Given the description of an element on the screen output the (x, y) to click on. 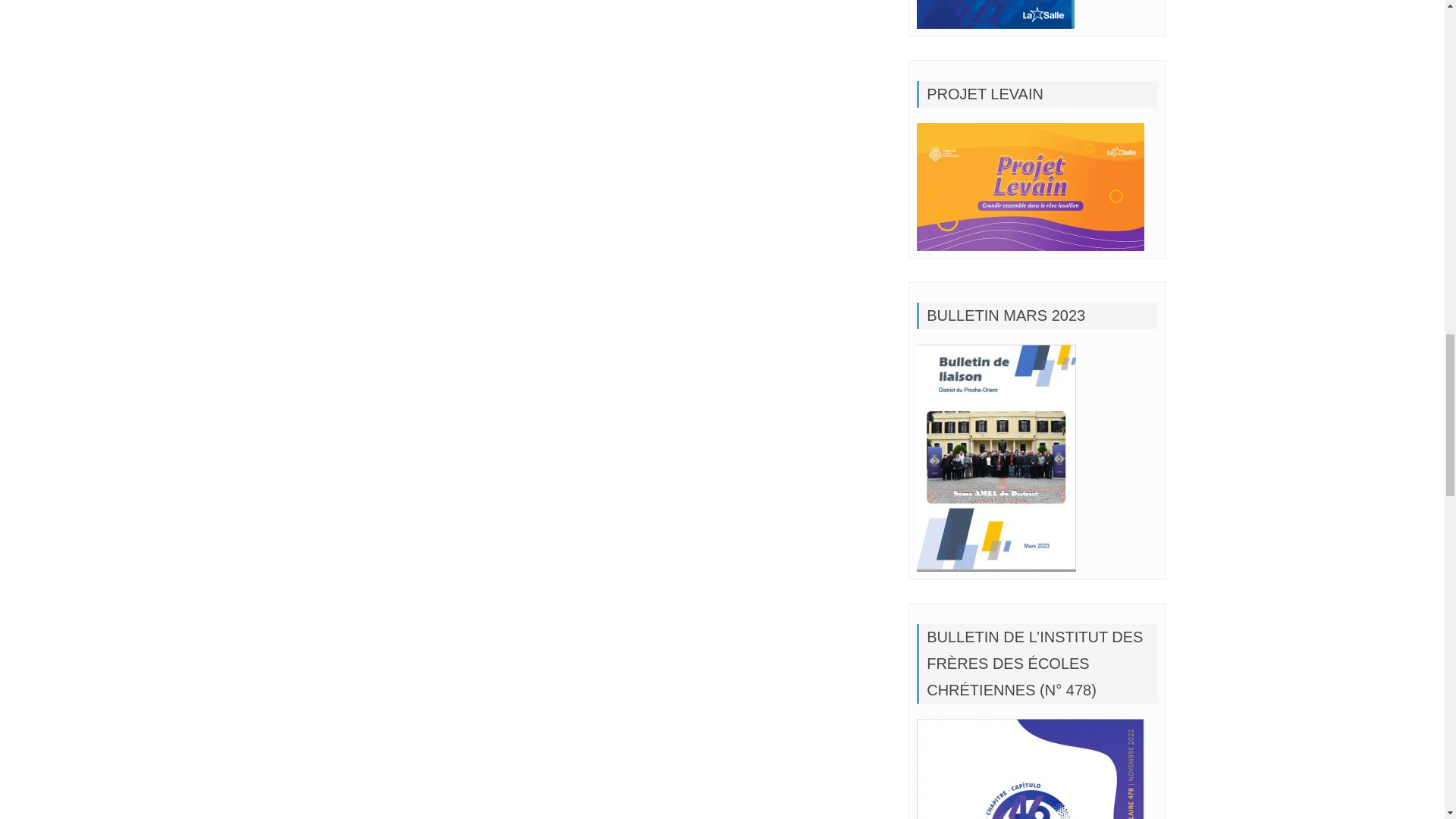
Circulaire 475 (1030, 186)
